Given the description of an element on the screen output the (x, y) to click on. 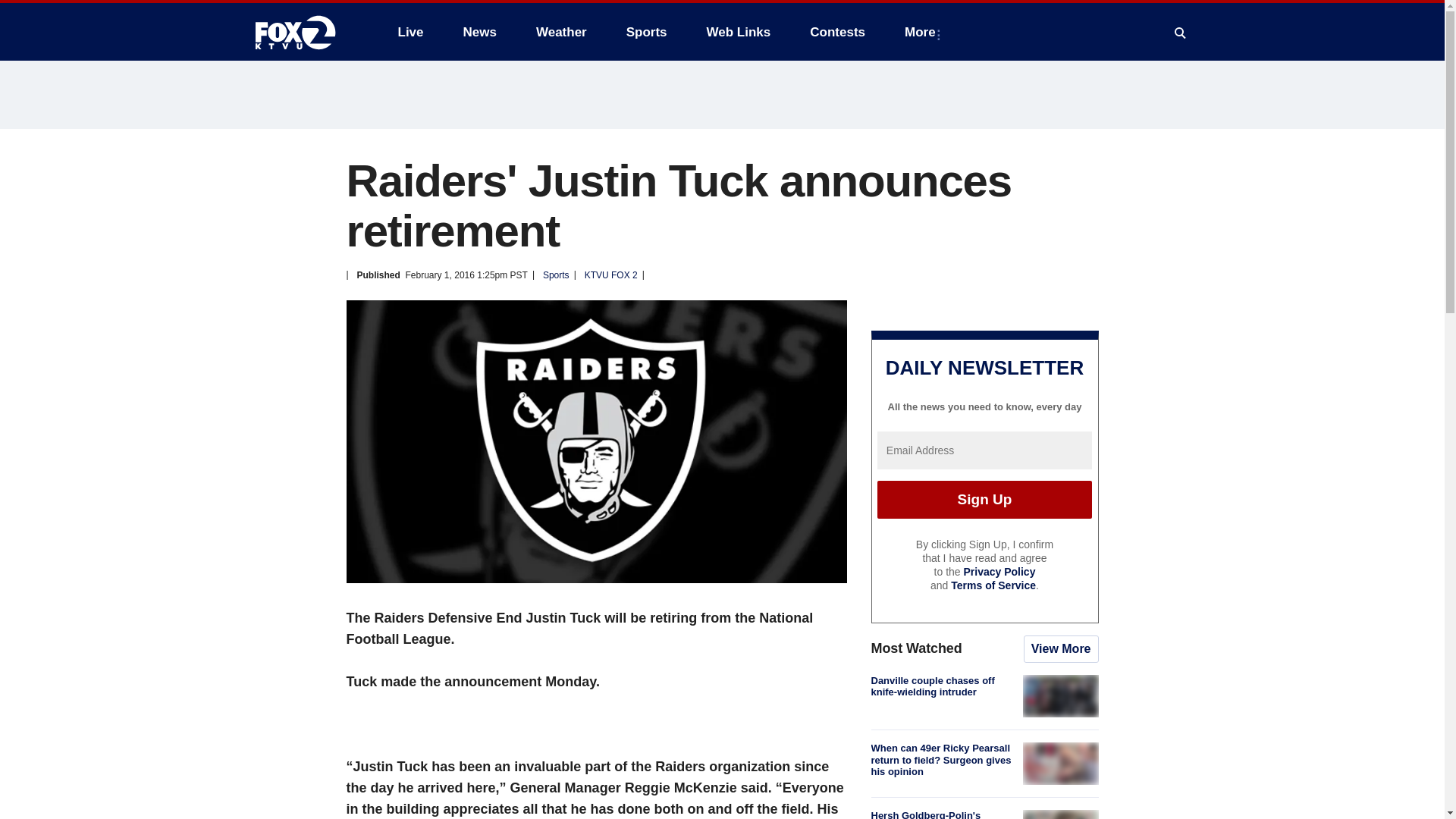
Sign Up (984, 499)
More (922, 32)
News (479, 32)
Web Links (738, 32)
Sports (646, 32)
Live (410, 32)
Contests (837, 32)
Weather (561, 32)
